Given the description of an element on the screen output the (x, y) to click on. 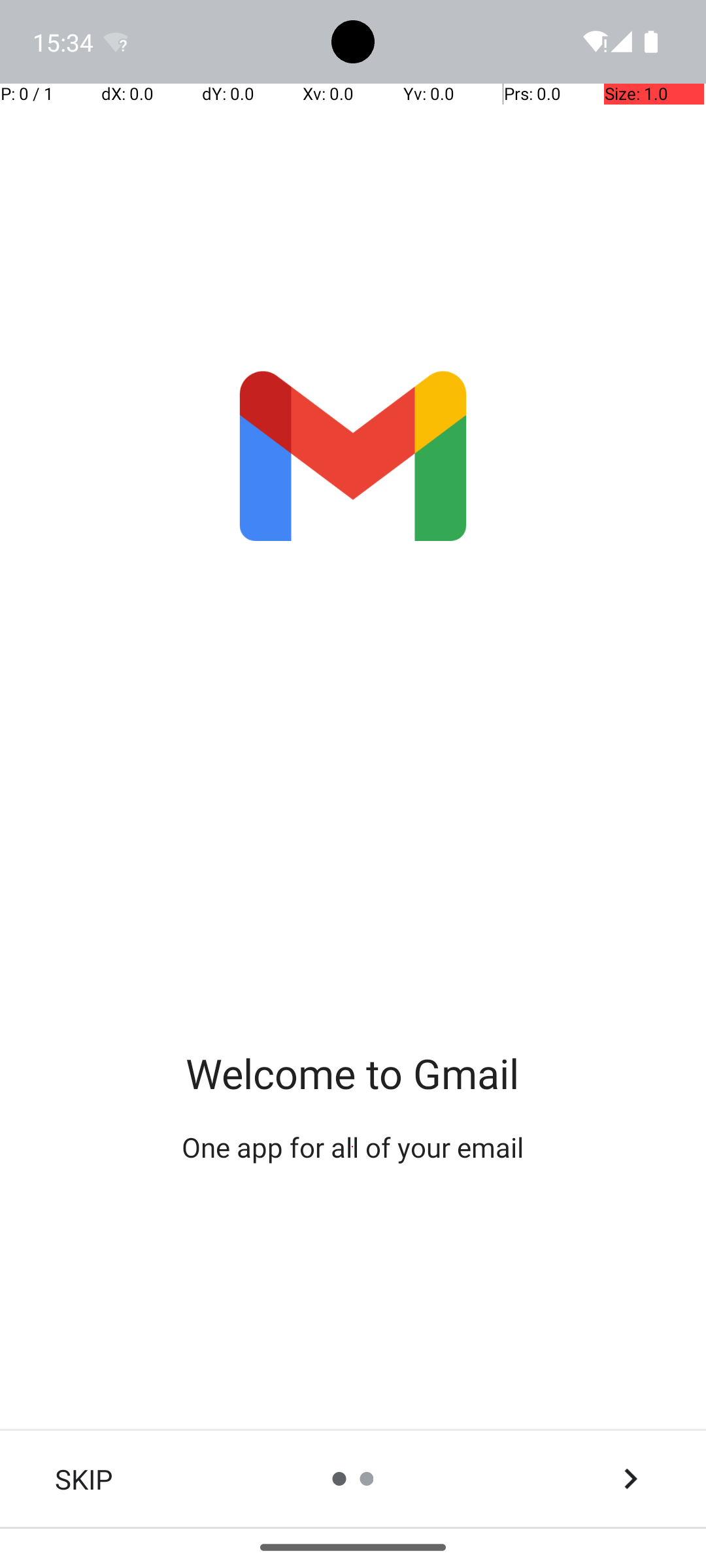
SKIP Element type: android.widget.TextView (83, 1478)
Welcome to Gmail Element type: android.widget.TextView (352, 1072)
One app for all of your email Element type: android.widget.TextView (352, 1146)
